Given the description of an element on the screen output the (x, y) to click on. 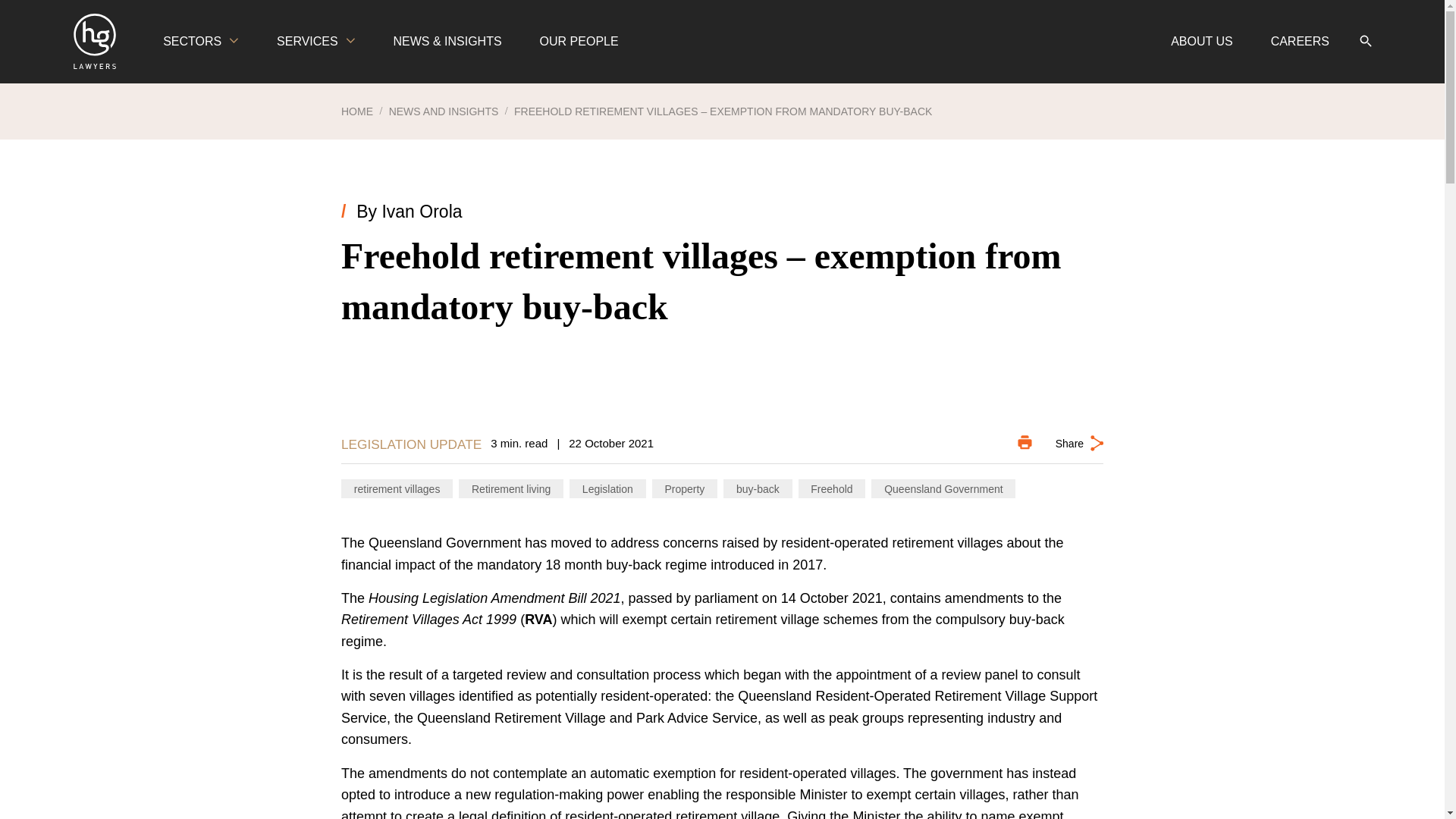
ABOUT US (1201, 41)
CAREERS (1299, 41)
SERVICES (315, 41)
OUR PEOPLE (579, 41)
SECTORS (200, 41)
